Given the description of an element on the screen output the (x, y) to click on. 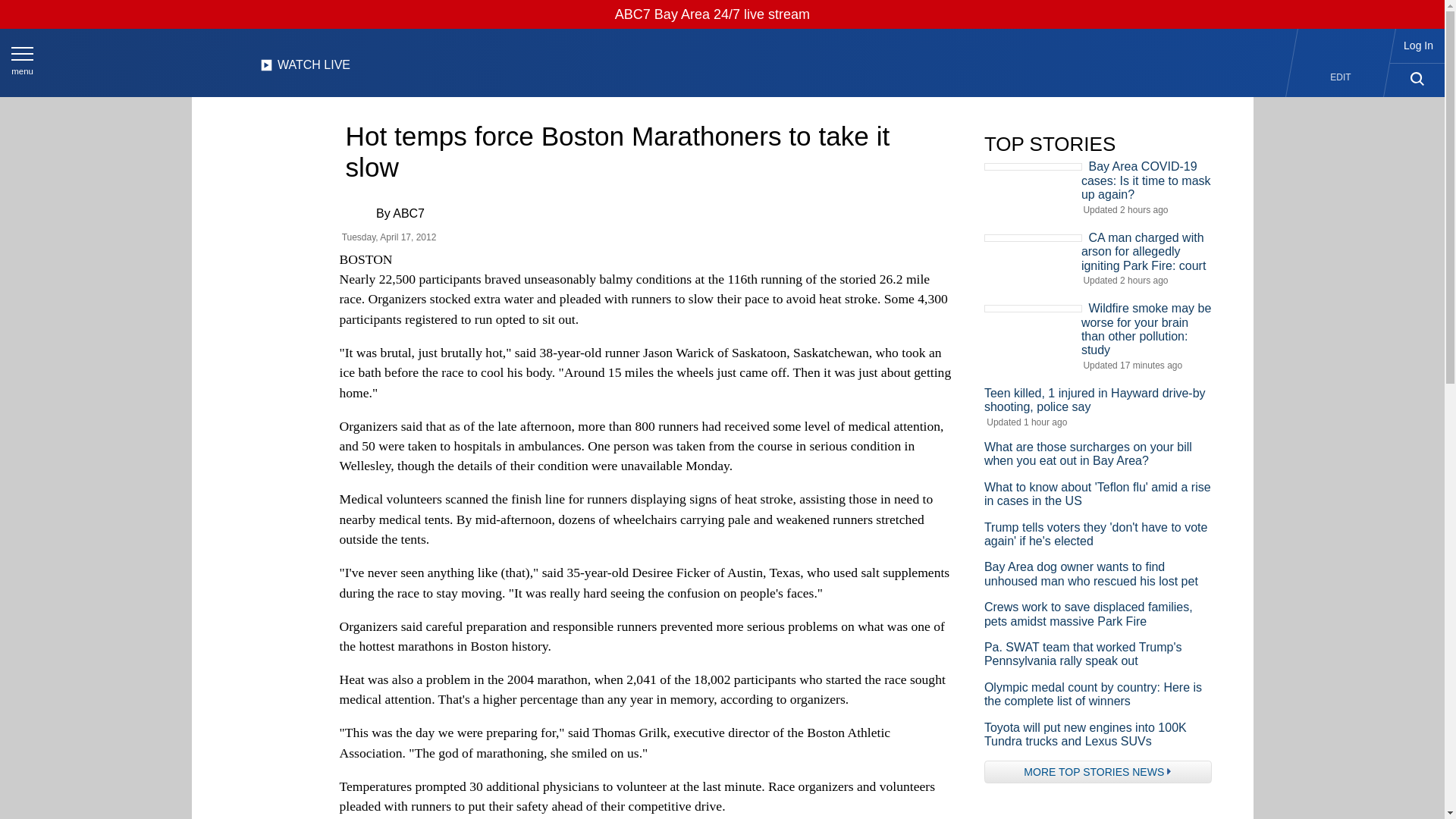
WATCH LIVE (305, 69)
EDIT (1340, 77)
